Given the description of an element on the screen output the (x, y) to click on. 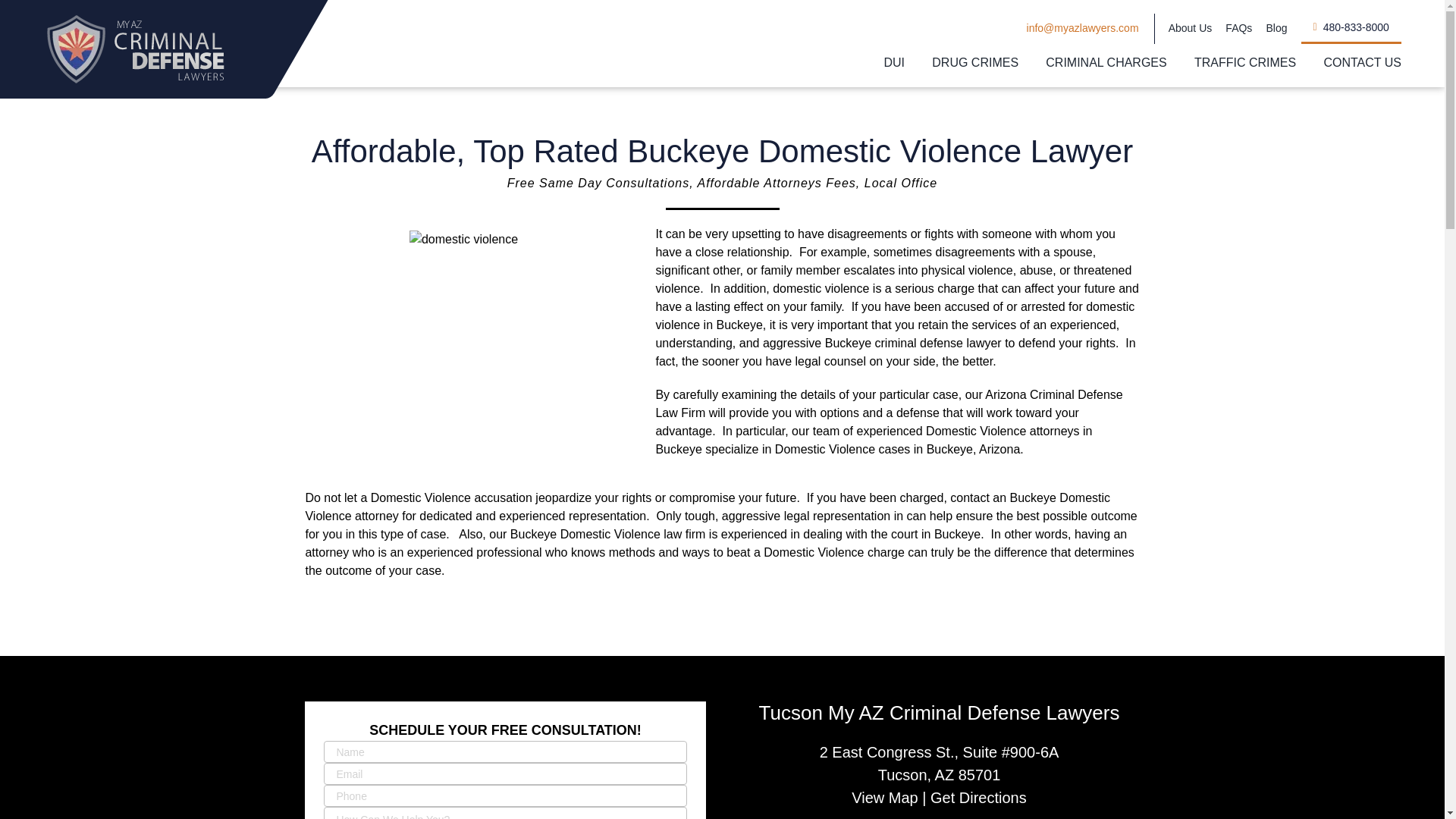
480-833-8000 (1350, 28)
DUI (894, 62)
About Us (1190, 28)
DRUG CRIMES (974, 62)
